Given the description of an element on the screen output the (x, y) to click on. 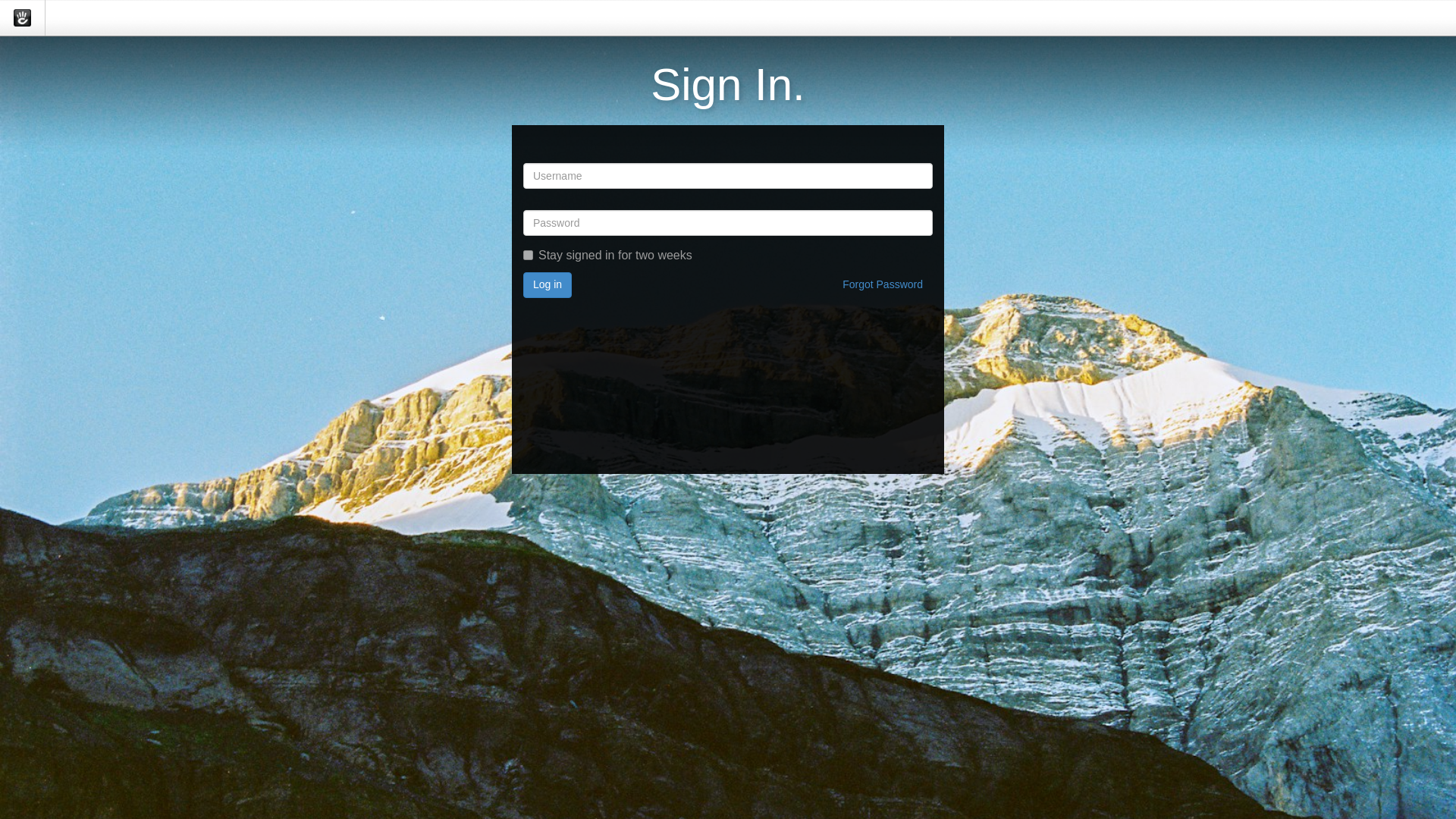
Log in (547, 284)
concrete5 (21, 17)
Forgot Password (882, 284)
1 (527, 255)
